Given the description of an element on the screen output the (x, y) to click on. 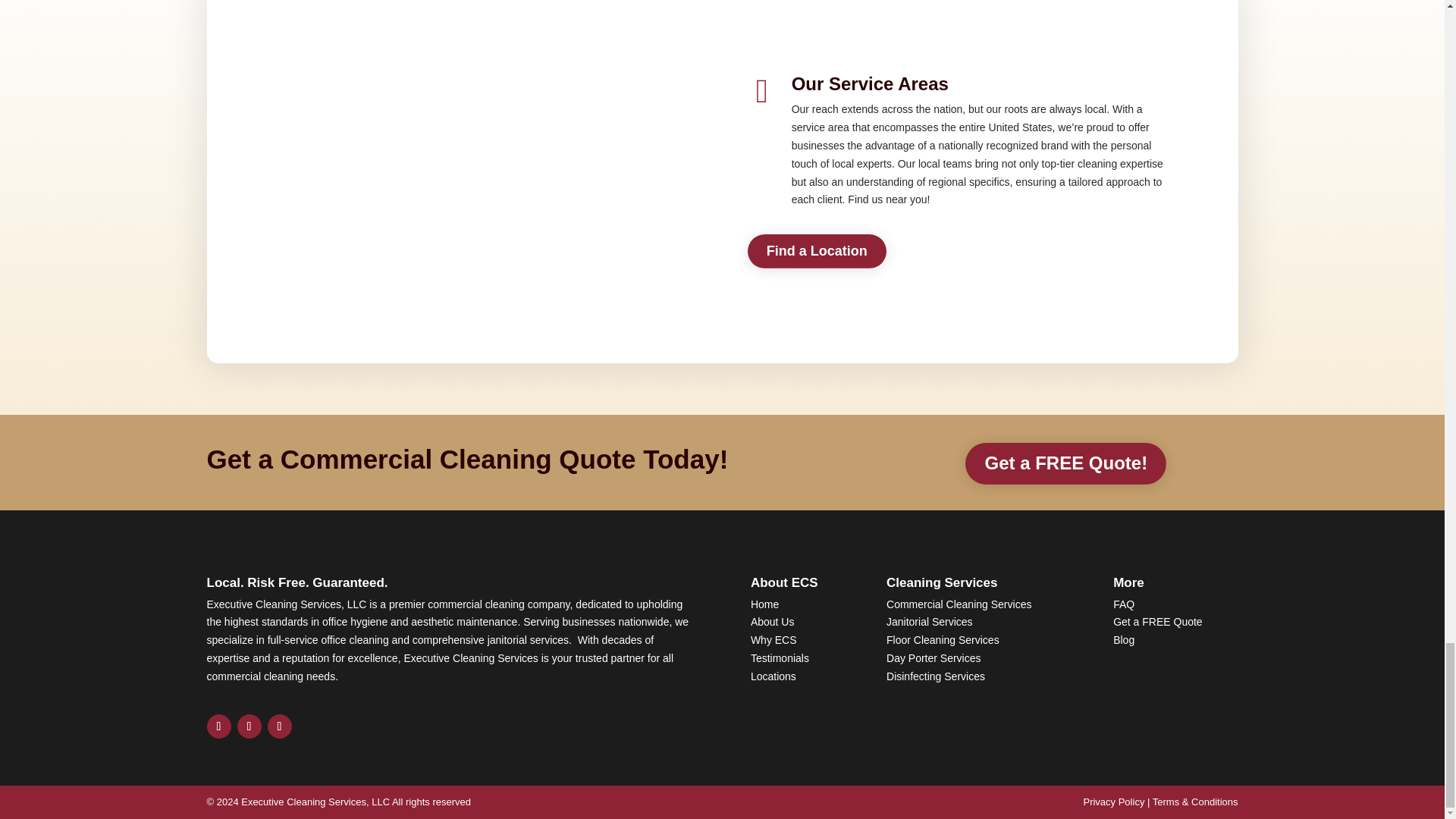
Follow on Youtube (278, 726)
About Us (772, 621)
DMCA.com Protection Status (1175, 695)
Follow on X (247, 726)
Privacy Policy (1113, 801)
Follow on Facebook (218, 726)
